Given the description of an element on the screen output the (x, y) to click on. 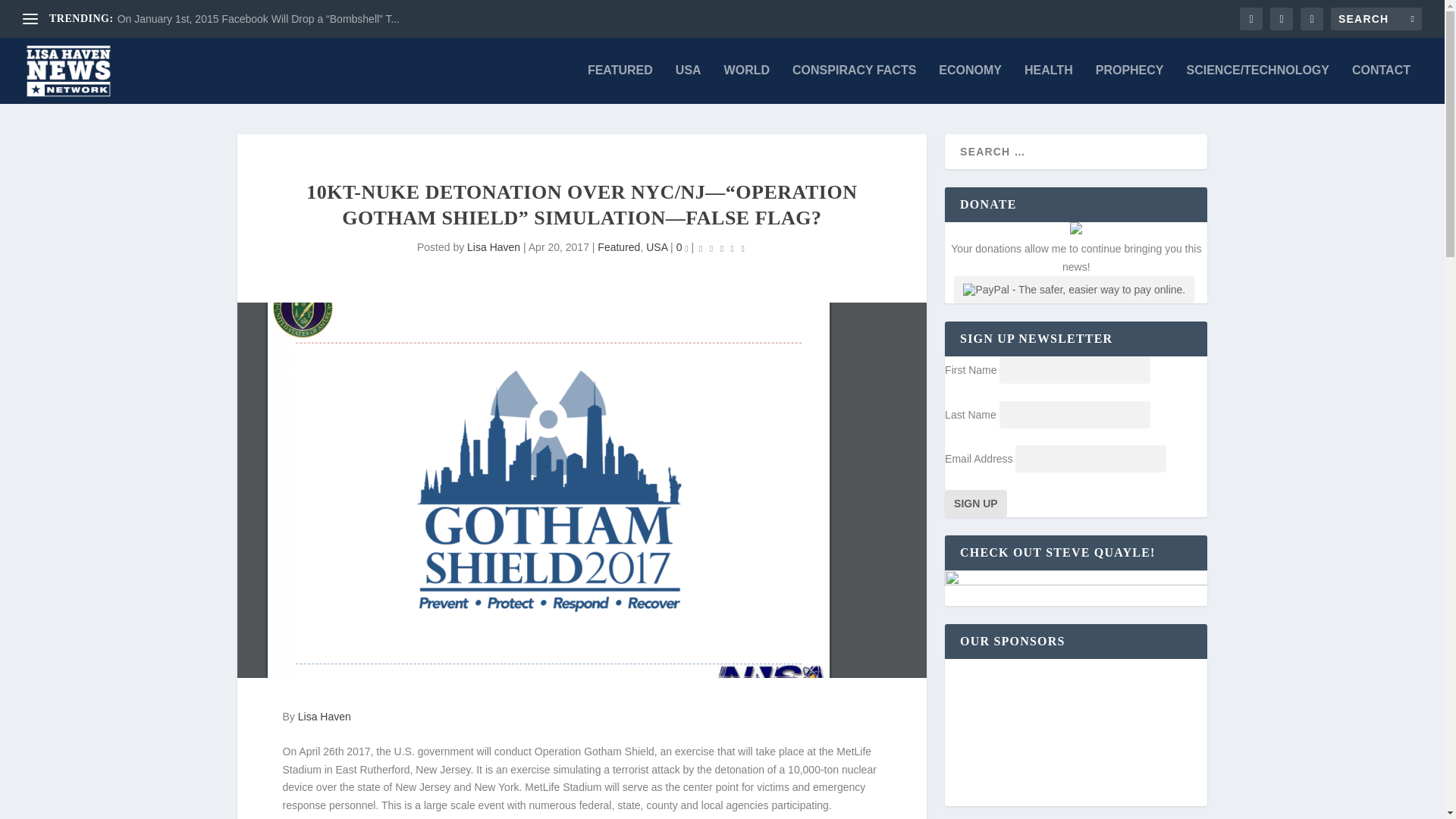
USA (688, 84)
Rating: 0.00 (721, 248)
WORLD (746, 84)
Lisa Haven (493, 246)
CONTACT (1381, 84)
HEALTH (1049, 84)
Search for: (1376, 18)
Featured (618, 246)
comment count (685, 248)
0 (682, 246)
Posts by Lisa Haven (493, 246)
Sign up (975, 502)
USA (656, 246)
PROPHECY (1129, 84)
ECONOMY (970, 84)
